Given the description of an element on the screen output the (x, y) to click on. 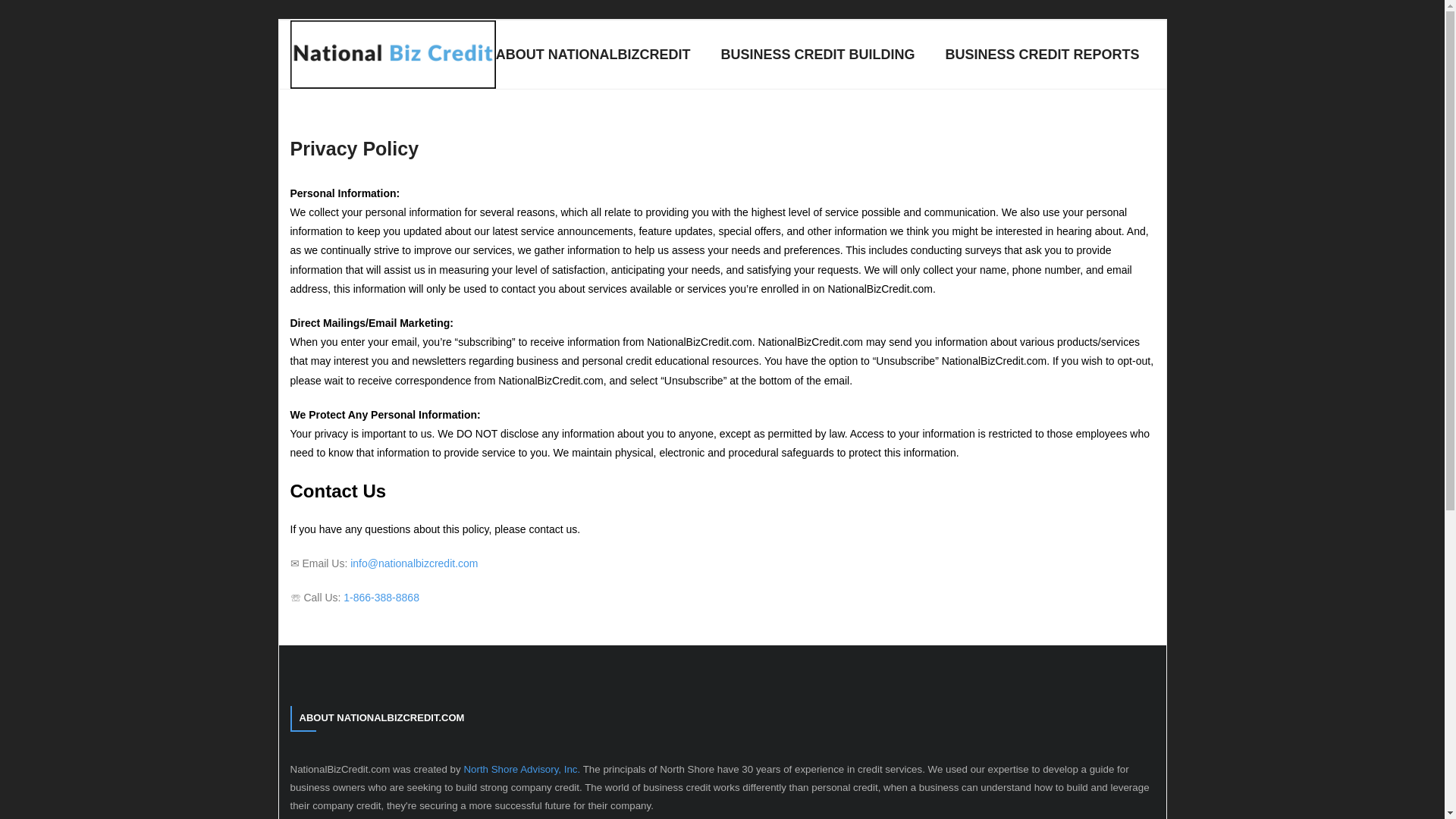
1-866-388-8868 (381, 597)
BUSINESS CREDIT REPORTS (1042, 54)
North Shore Advisory, Inc. (521, 768)
ABOUT NATIONALBIZCREDIT (593, 54)
BUSINESS CREDIT BUILDING (817, 54)
